Given the description of an element on the screen output the (x, y) to click on. 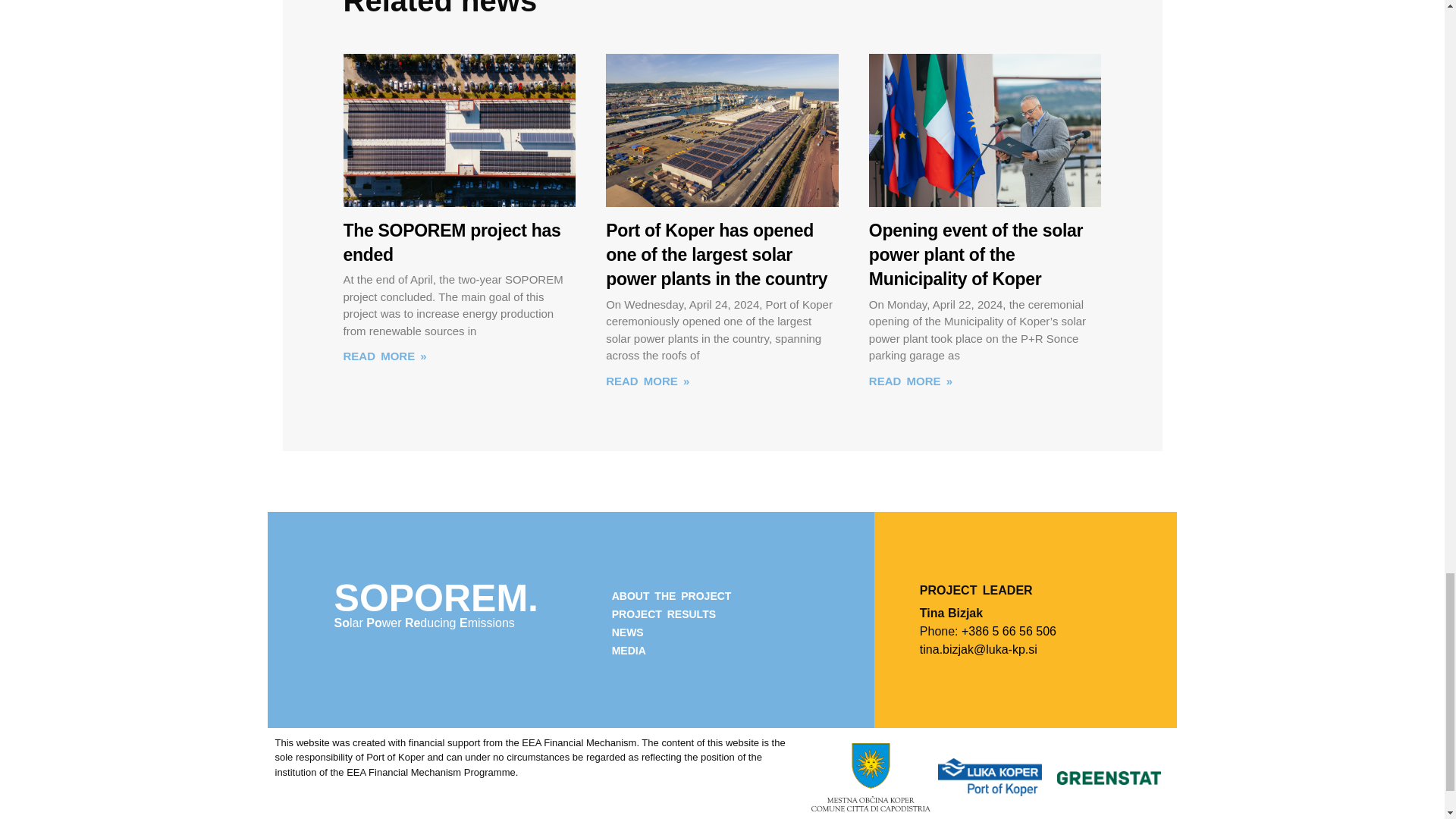
MEDIA (715, 650)
NEWS (715, 632)
SOPOREM. (436, 598)
PROJECT RESULTS (715, 614)
The SOPOREM project has ended (451, 242)
ABOUT THE PROJECT (715, 596)
